Given the description of an element on the screen output the (x, y) to click on. 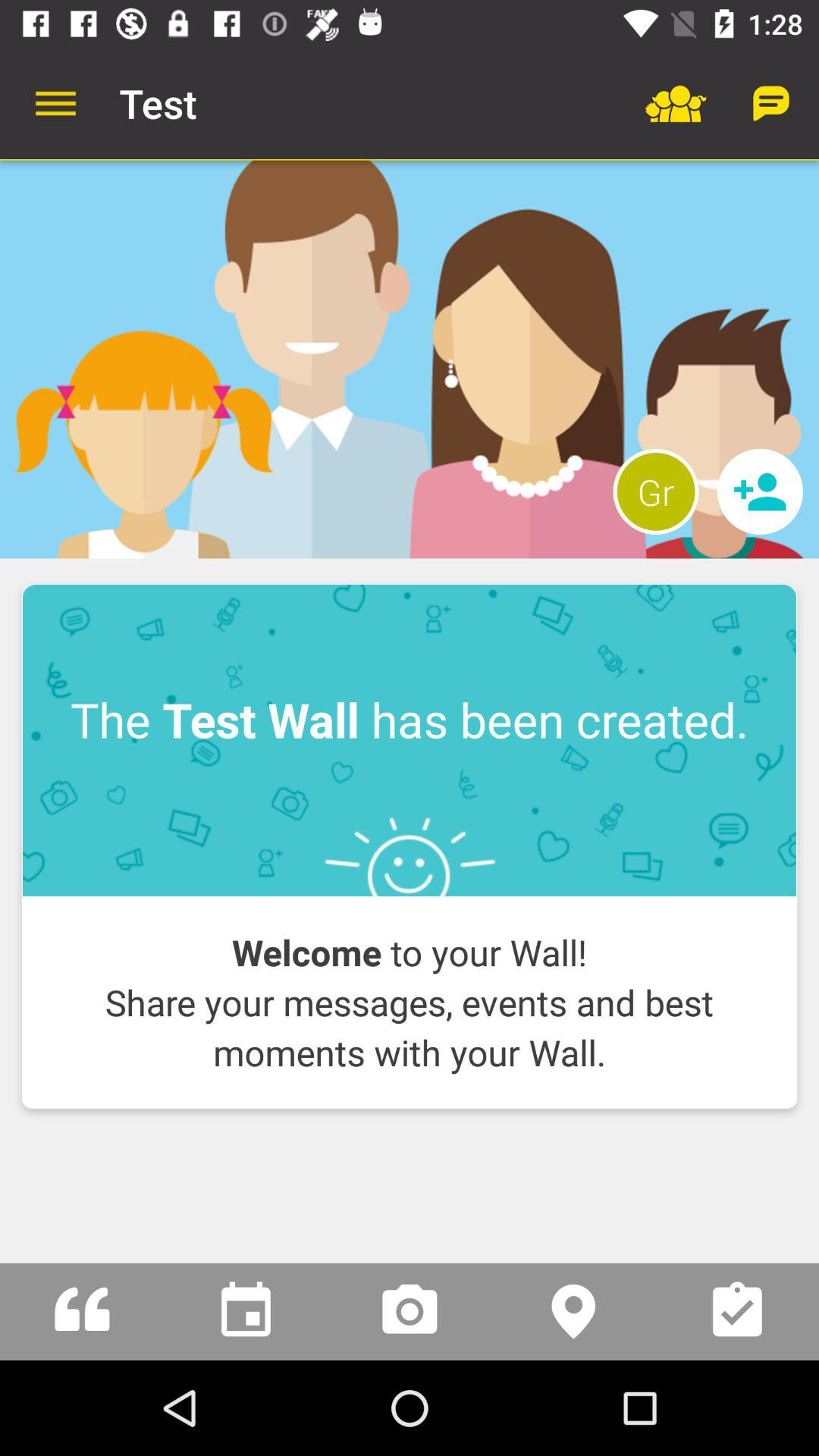
share photos (409, 1311)
